Given the description of an element on the screen output the (x, y) to click on. 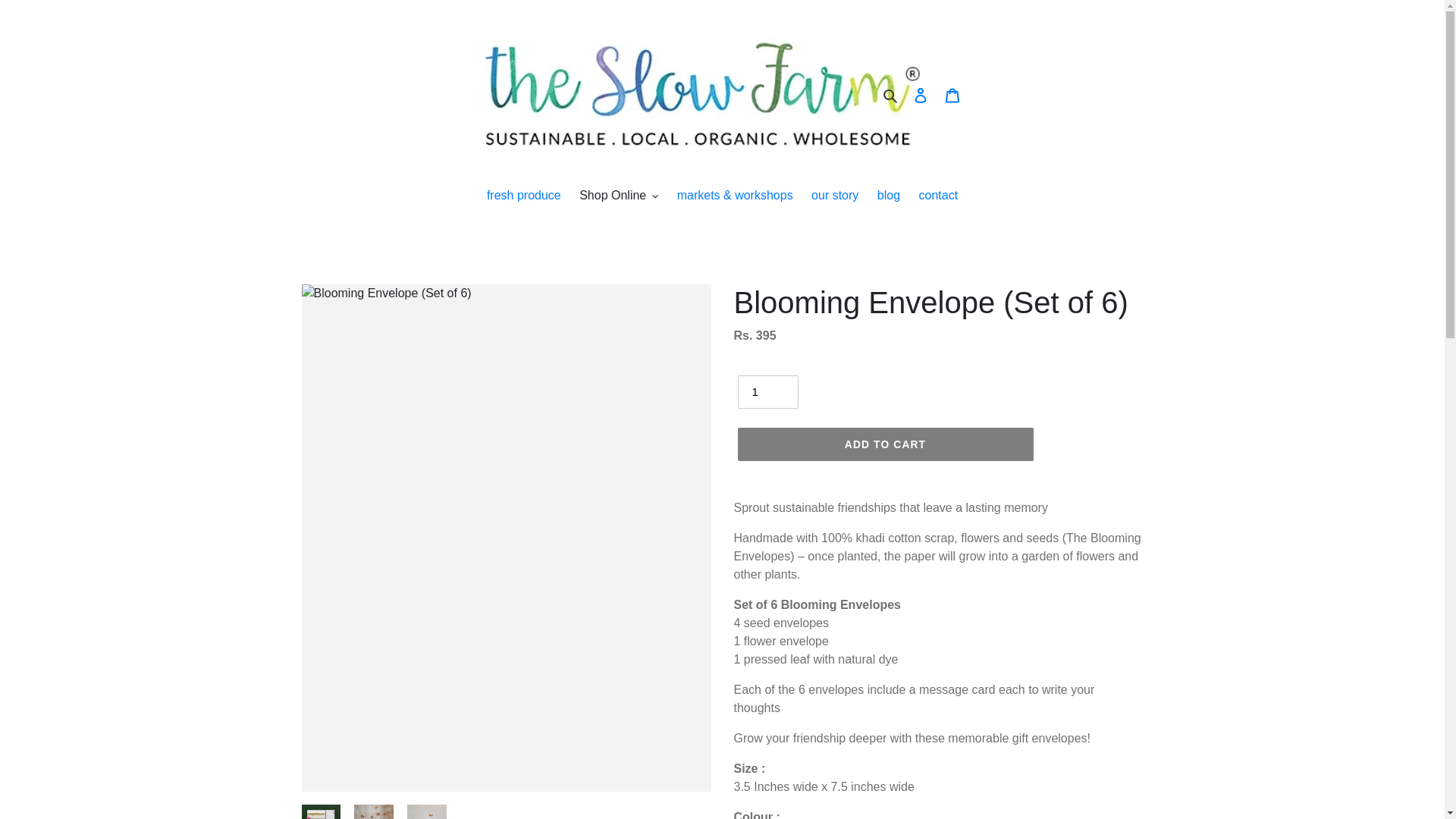
Search (890, 95)
Shop Online (618, 196)
Log in (920, 95)
fresh produce (524, 196)
contact (938, 196)
1 (766, 391)
ADD TO CART (884, 444)
Cart (952, 95)
blog (888, 196)
our story (834, 196)
